Given the description of an element on the screen output the (x, y) to click on. 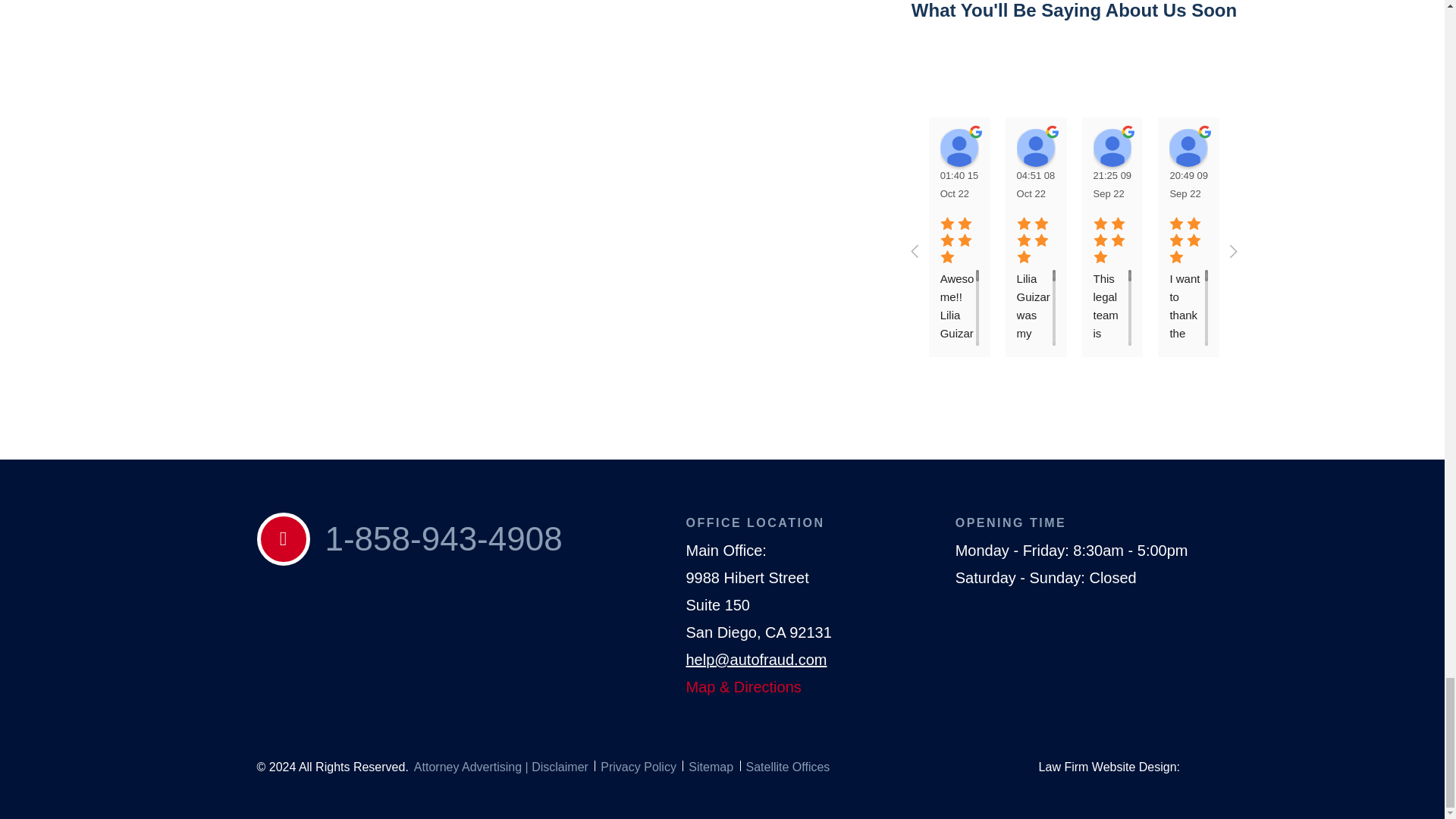
Angela Fraticelli (959, 147)
Jocilyn Hubert (1112, 147)
Pocho Productions (1265, 147)
Tiffany Sidwell (1035, 147)
Vianey Salgado (1188, 147)
